Given the description of an element on the screen output the (x, y) to click on. 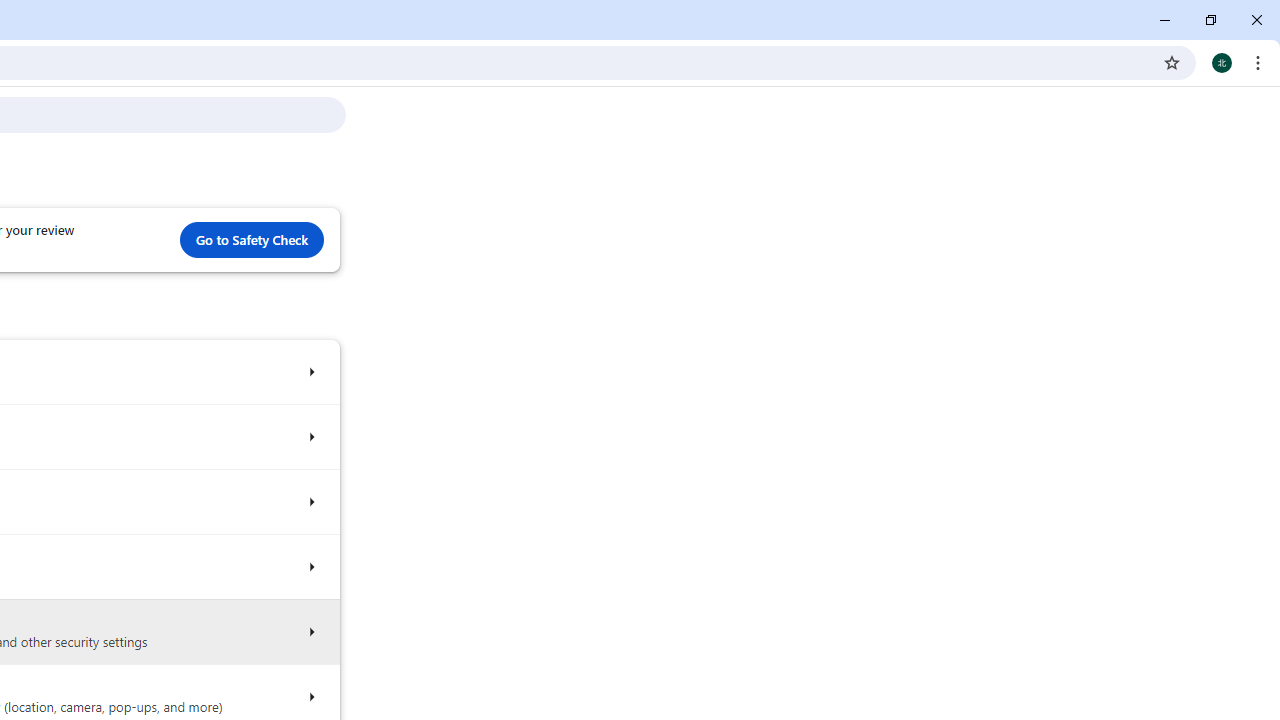
Third-party cookies Third-party cookies are blocked (310, 502)
Ad privacy Customize the info used by sites to show you ads (310, 566)
Privacy Guide Review key privacy and security controls (310, 437)
Go to Safety Check (251, 240)
